Given the description of an element on the screen output the (x, y) to click on. 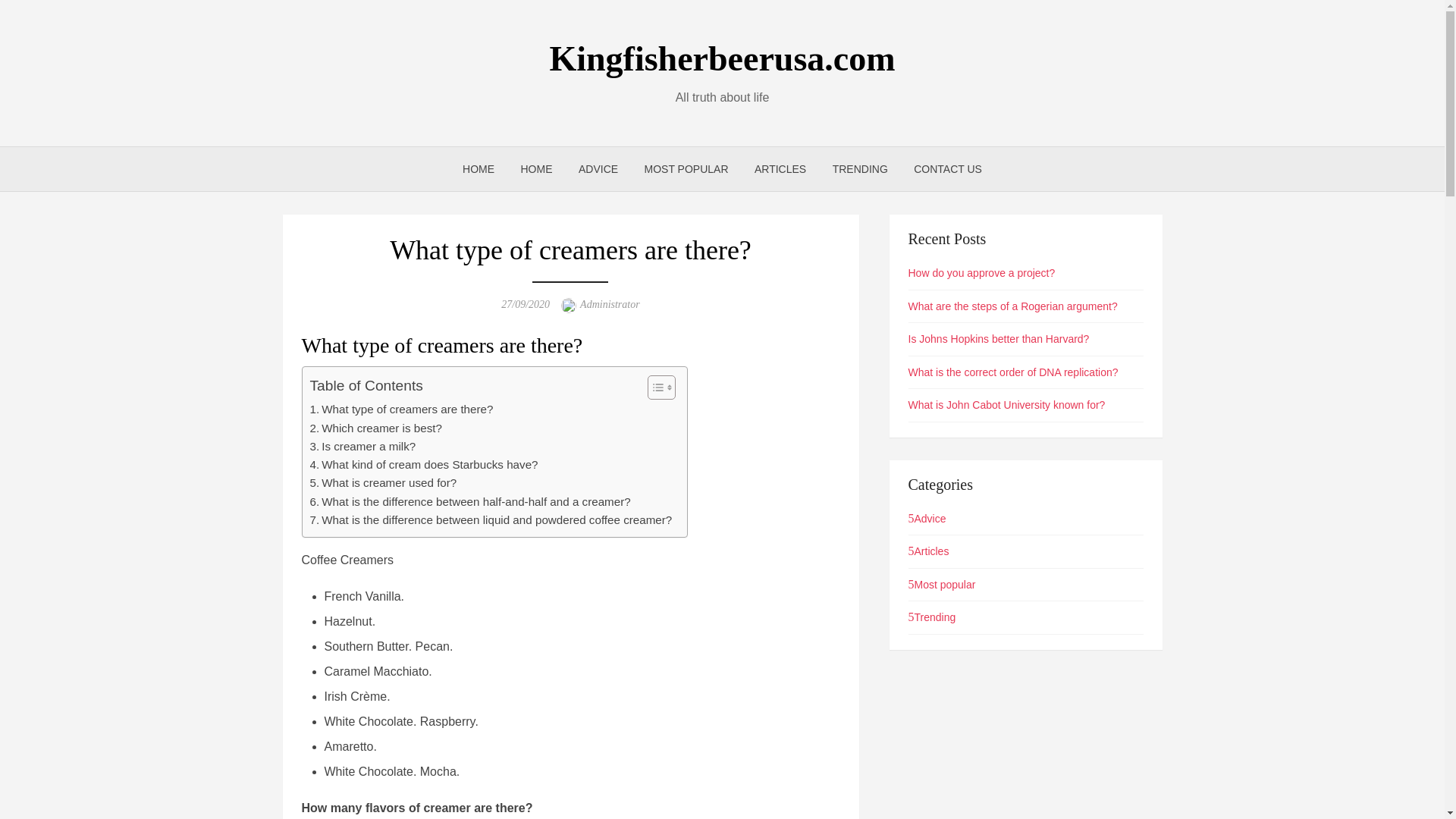
What is the difference between half-and-half and a creamer? (469, 502)
Is Johns Hopkins better than Harvard? (998, 338)
What is the correct order of DNA replication? (1013, 372)
ARTICLES (779, 168)
ADVICE (597, 168)
Which creamer is best? (374, 427)
Most popular (941, 584)
Is creamer a milk? (361, 446)
What is creamer used for? (382, 483)
